Given the description of an element on the screen output the (x, y) to click on. 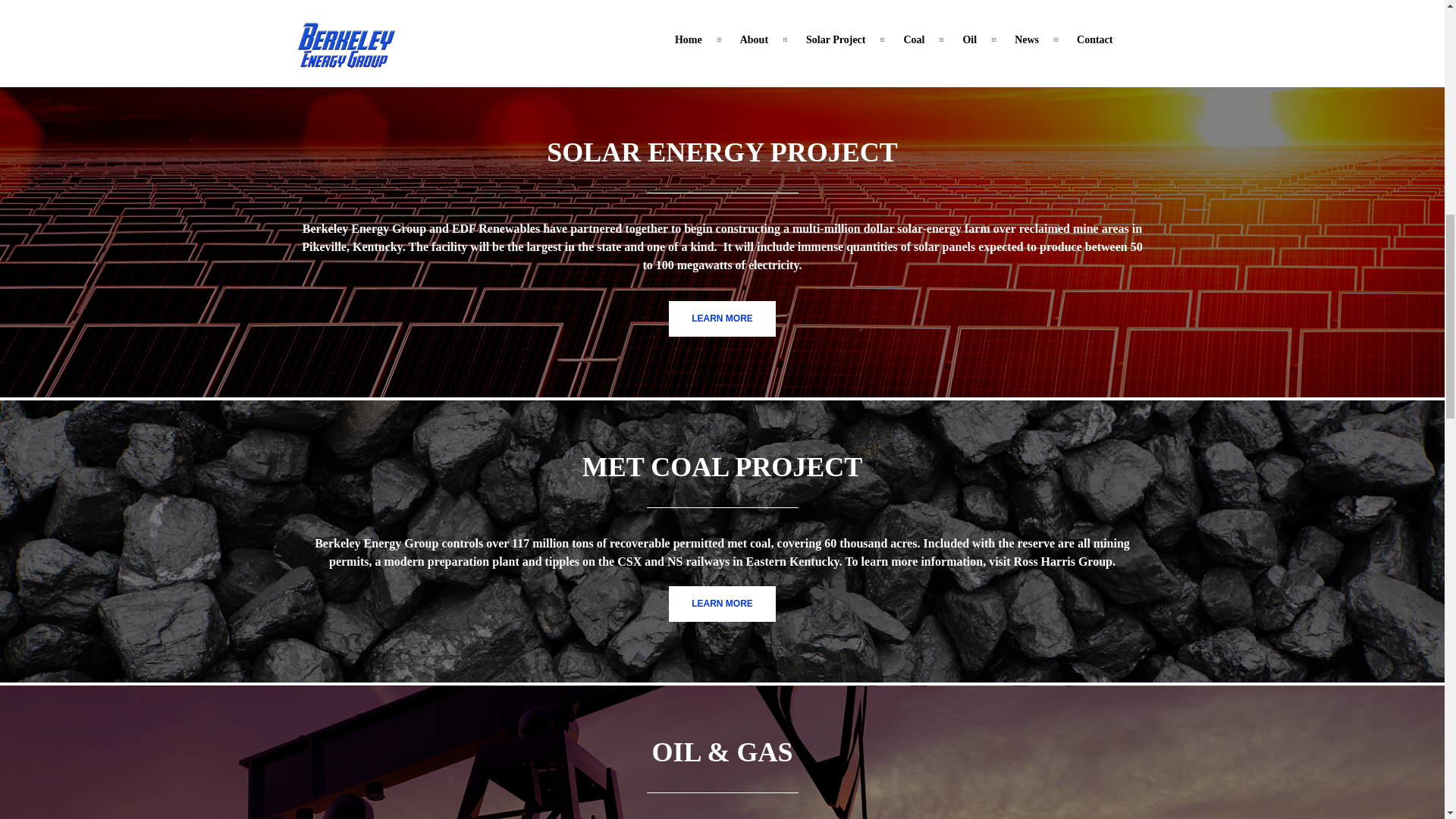
LEARN MORE (722, 603)
Solar energy project (722, 318)
LEARN MORE (722, 318)
